Given the description of an element on the screen output the (x, y) to click on. 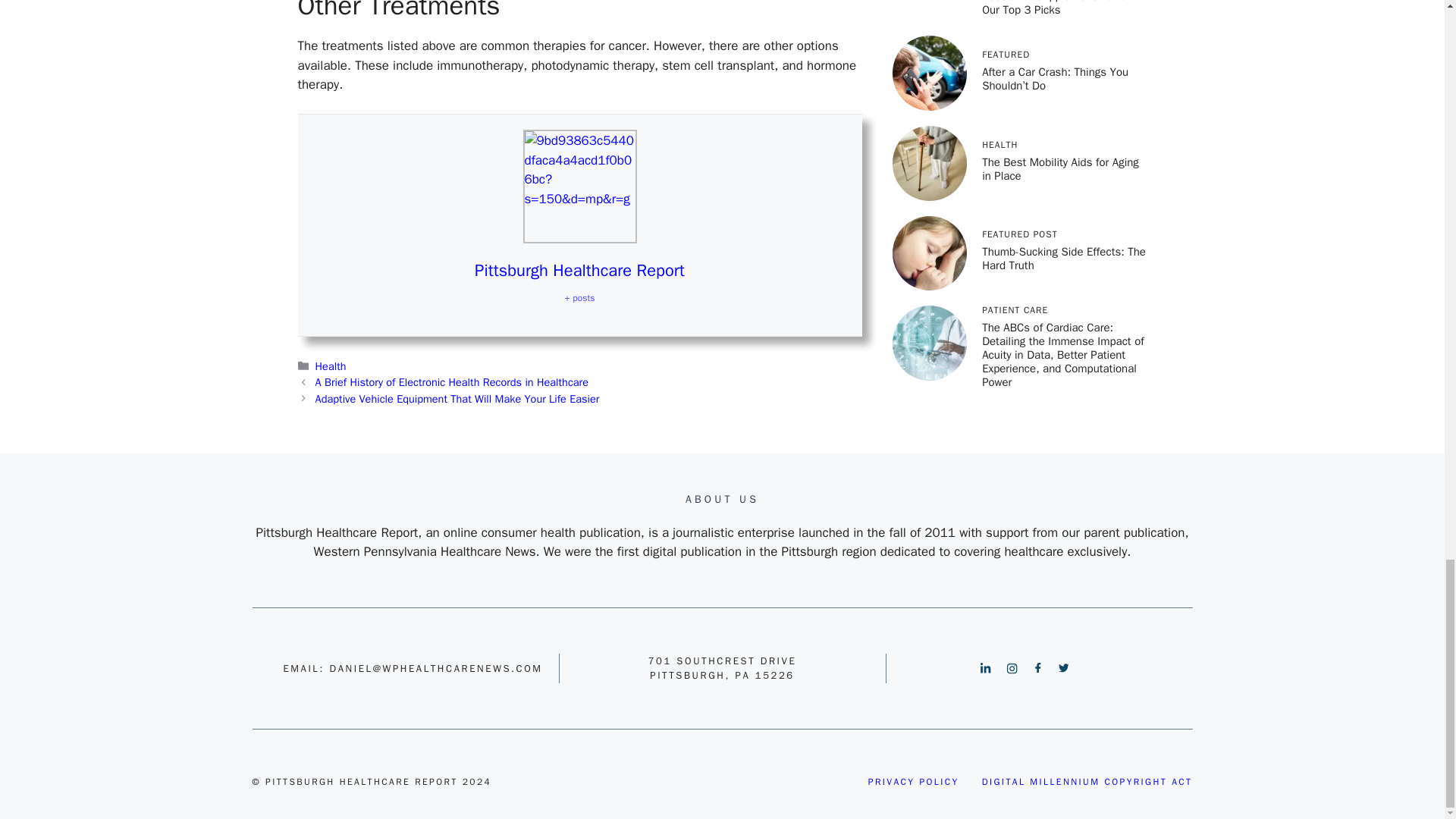
What Are the Types of Cancer Treatments? 1 (579, 186)
A Brief History of Electronic Health Records in Healthcare (451, 382)
Pittsburgh Healthcare Report (579, 270)
Adaptive Vehicle Equipment That Will Make Your Life Easier (457, 398)
Health (330, 366)
